Given the description of an element on the screen output the (x, y) to click on. 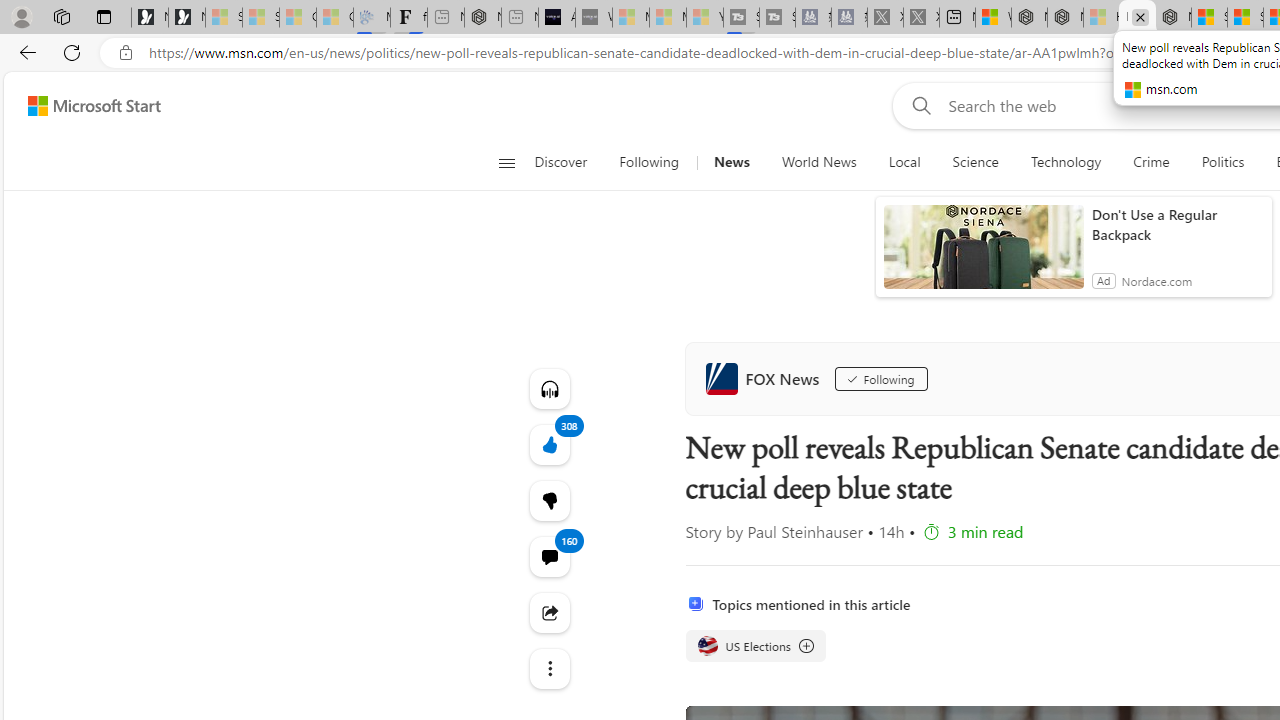
Crime (1150, 162)
Local (903, 162)
Science (975, 162)
Listen to this article (548, 388)
US Elections (707, 645)
Don't Use a Regular Backpack (1177, 224)
